Given the description of an element on the screen output the (x, y) to click on. 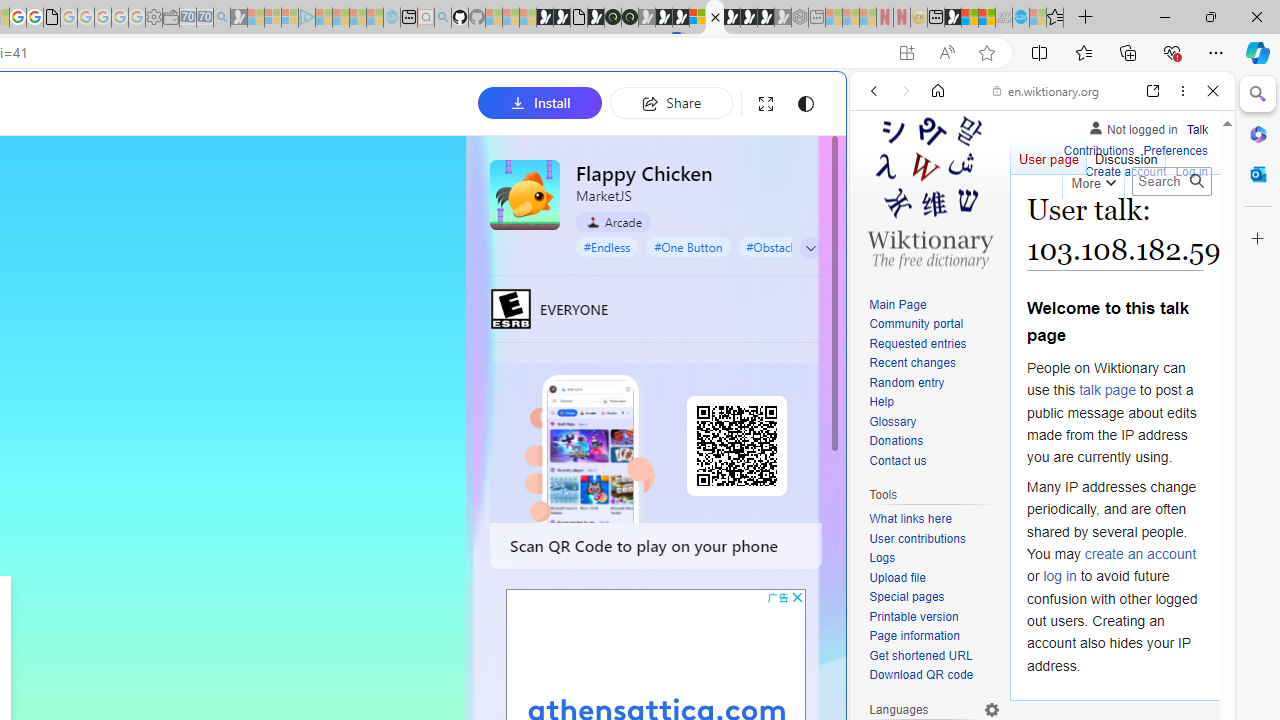
EVERYONE (511, 308)
Microsoft account | Privacy - Sleeping (289, 17)
IMAGES (939, 228)
Create account (1125, 172)
New tab - Sleeping (817, 17)
MSN (952, 17)
Visit the main page (929, 190)
Full screen (765, 103)
Talk (1197, 129)
Upload file (934, 578)
Contributions (1098, 148)
Contact us (897, 460)
